Given the description of an element on the screen output the (x, y) to click on. 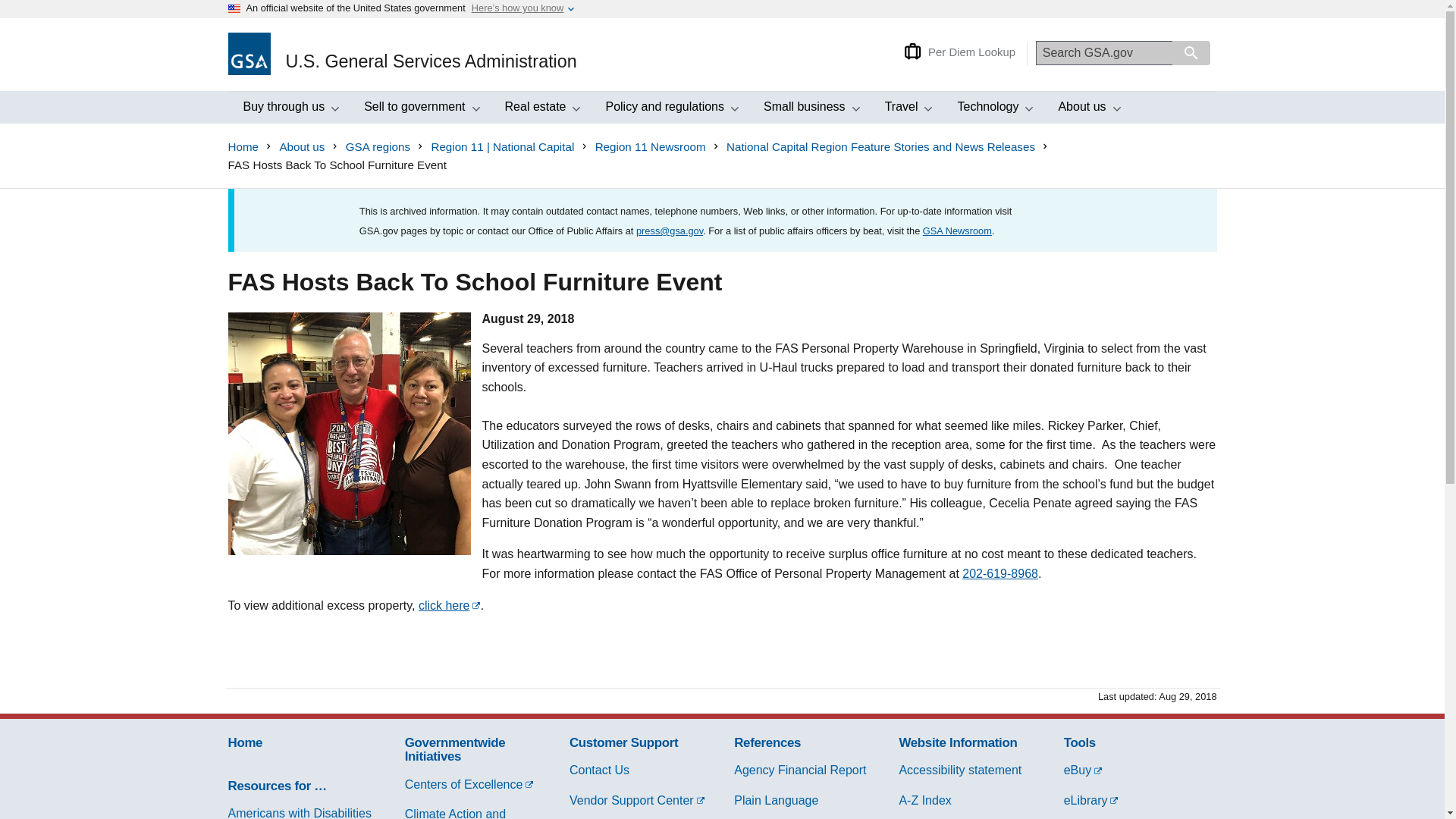
Skip to main content (288, 107)
U.S. General Services Administration (11, 16)
